Given the description of an element on the screen output the (x, y) to click on. 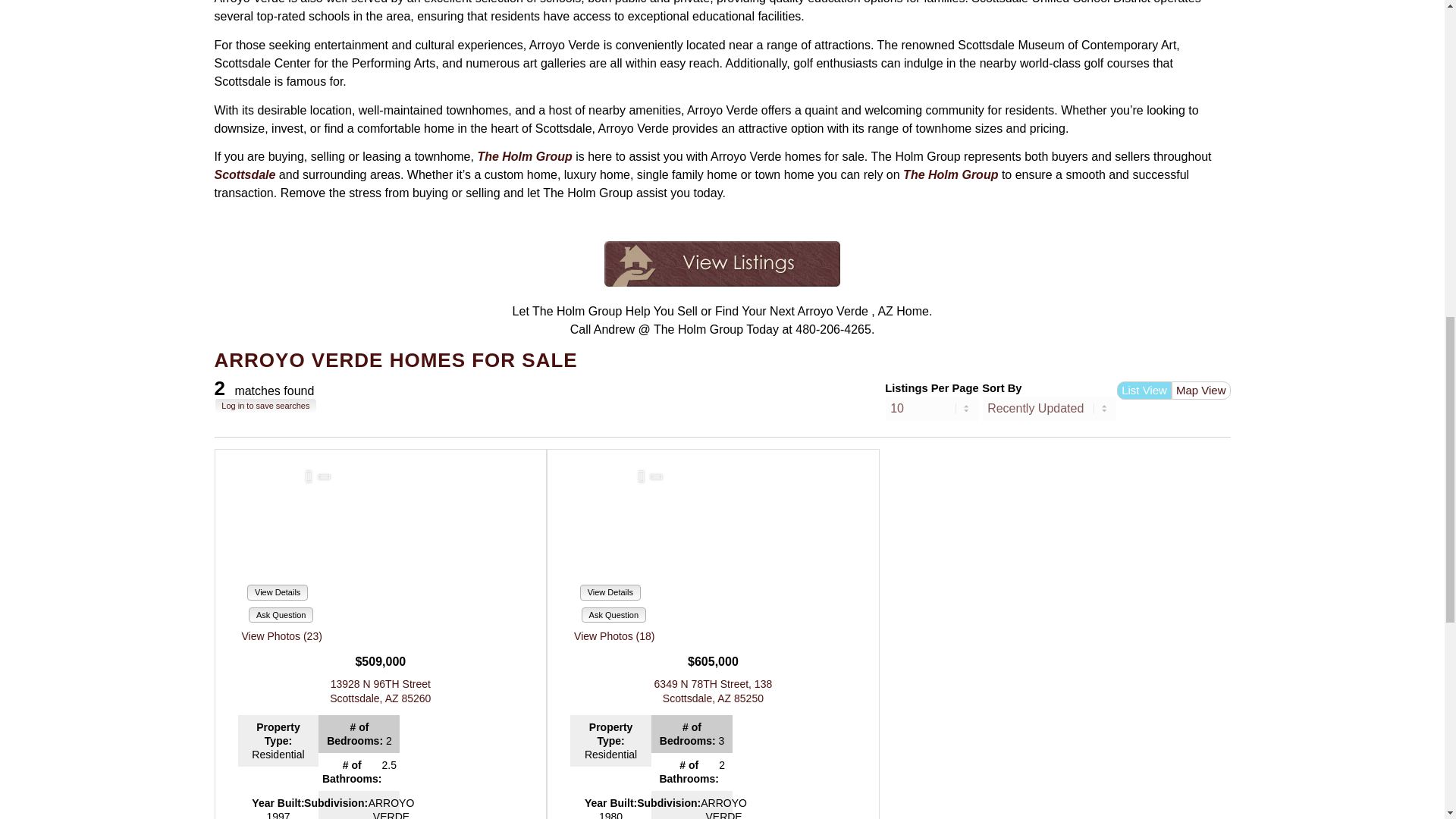
Click for more details (713, 691)
Click for more details (380, 691)
